Given the description of an element on the screen output the (x, y) to click on. 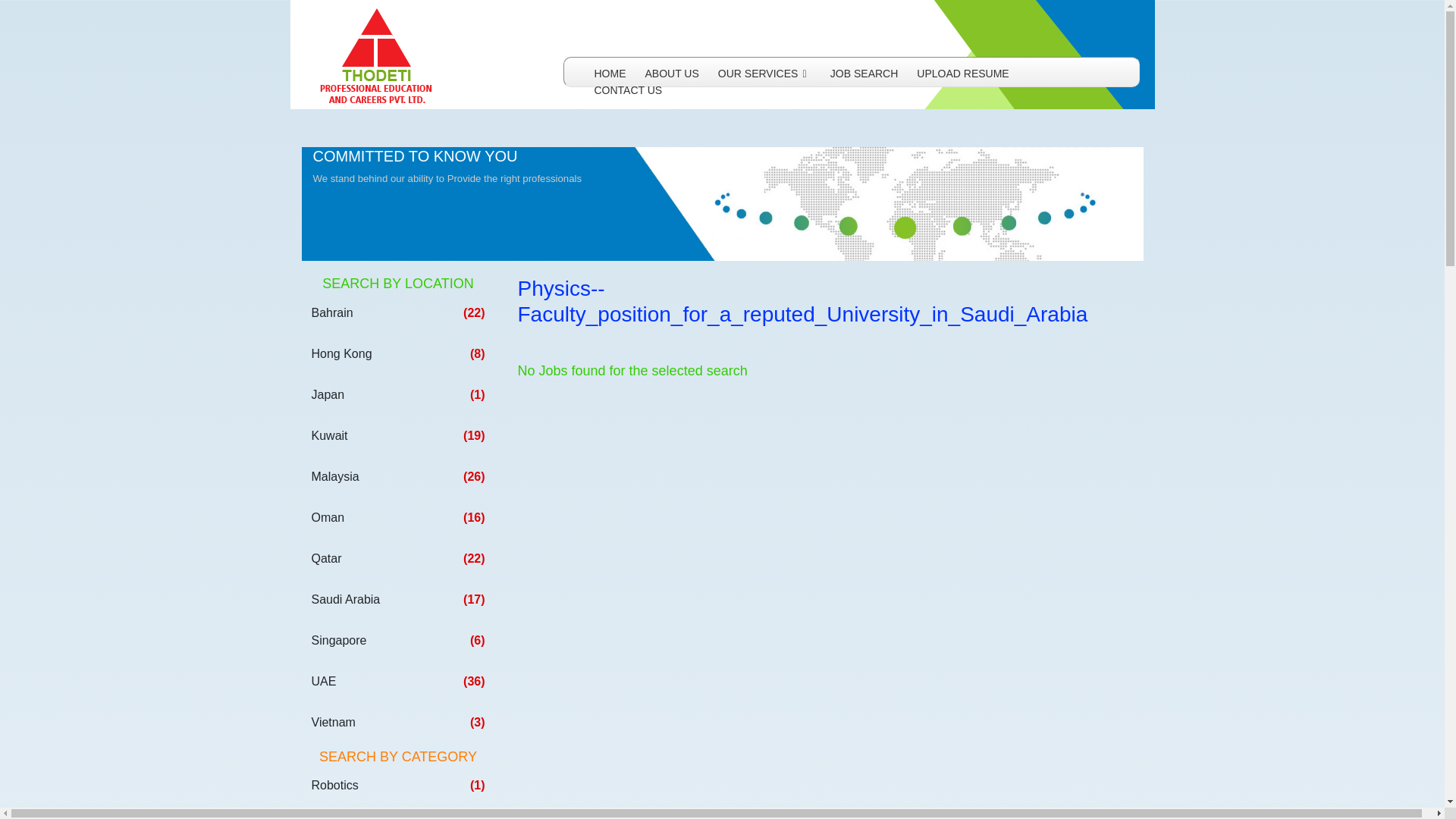
JOB SEARCH (863, 73)
ABOUT US (671, 73)
CONTACT US (628, 90)
HOME (610, 73)
OUR SERVICES (763, 73)
UPLOAD RESUME (963, 73)
